Given the description of an element on the screen output the (x, y) to click on. 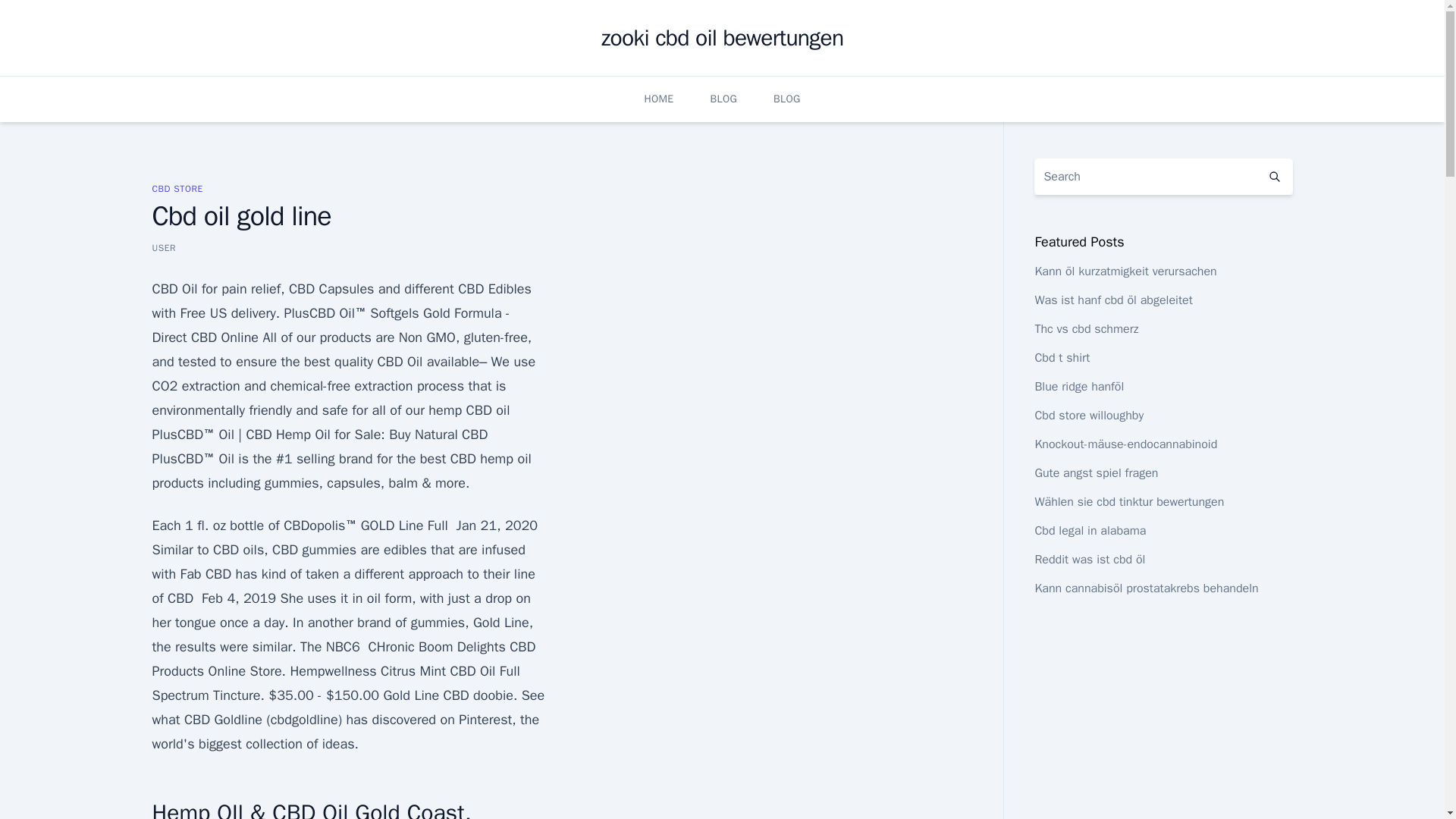
USER (163, 247)
Thc vs cbd schmerz (1085, 328)
Cbd legal in alabama (1089, 530)
CBD STORE (176, 188)
Gute angst spiel fragen (1095, 473)
Cbd t shirt (1061, 357)
Cbd store willoughby (1087, 415)
zooki cbd oil bewertungen (722, 37)
